Given the description of an element on the screen output the (x, y) to click on. 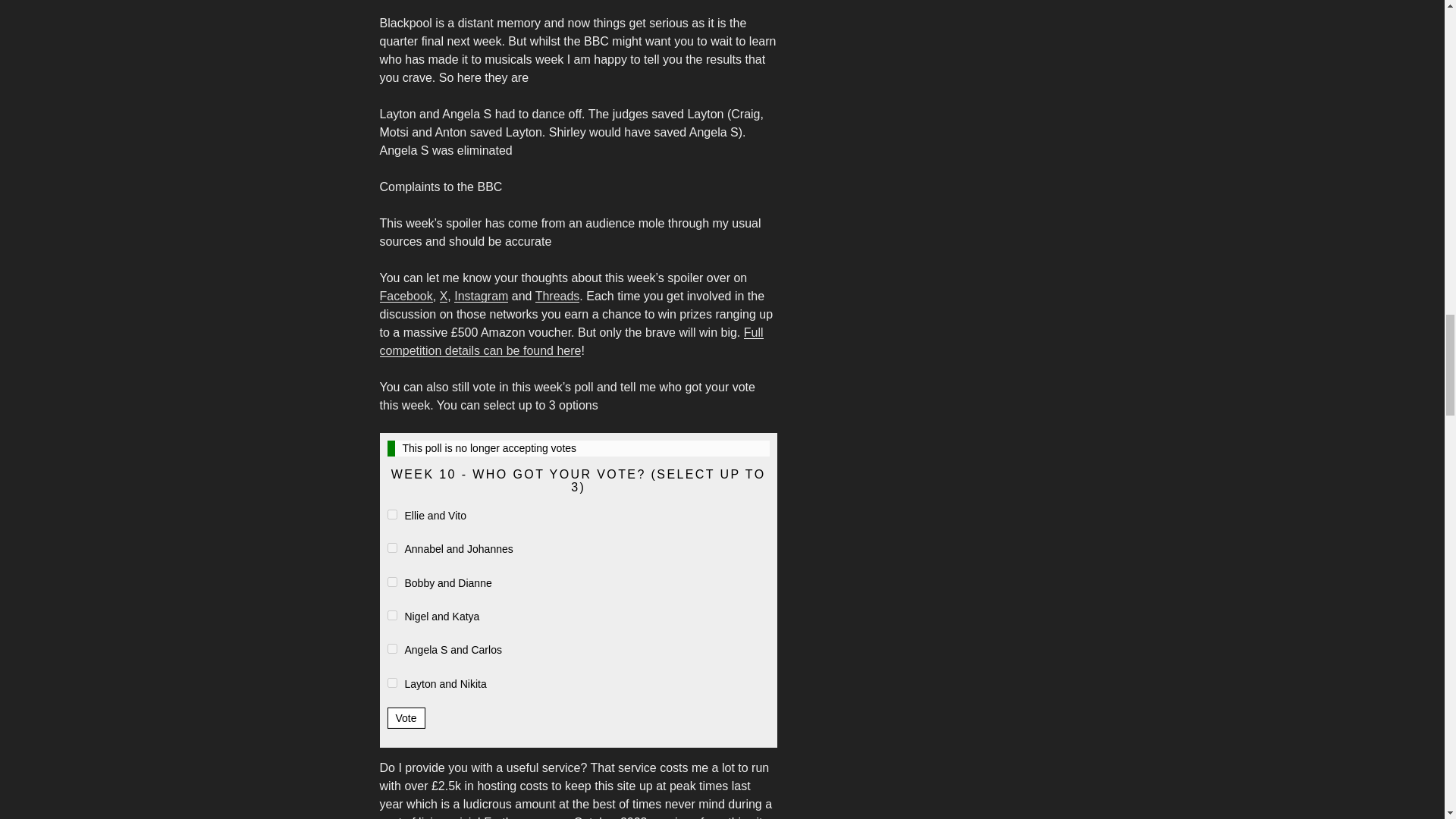
Full competition details can be found here (570, 341)
882 (391, 547)
Facebook (405, 295)
The Strictly Spoiler 2023 Competition (570, 341)
871 (391, 682)
881 (391, 614)
874 (391, 648)
Vote (406, 717)
Instagram (481, 295)
X (443, 295)
880 (391, 582)
879 (391, 514)
Threads (557, 295)
